Given the description of an element on the screen output the (x, y) to click on. 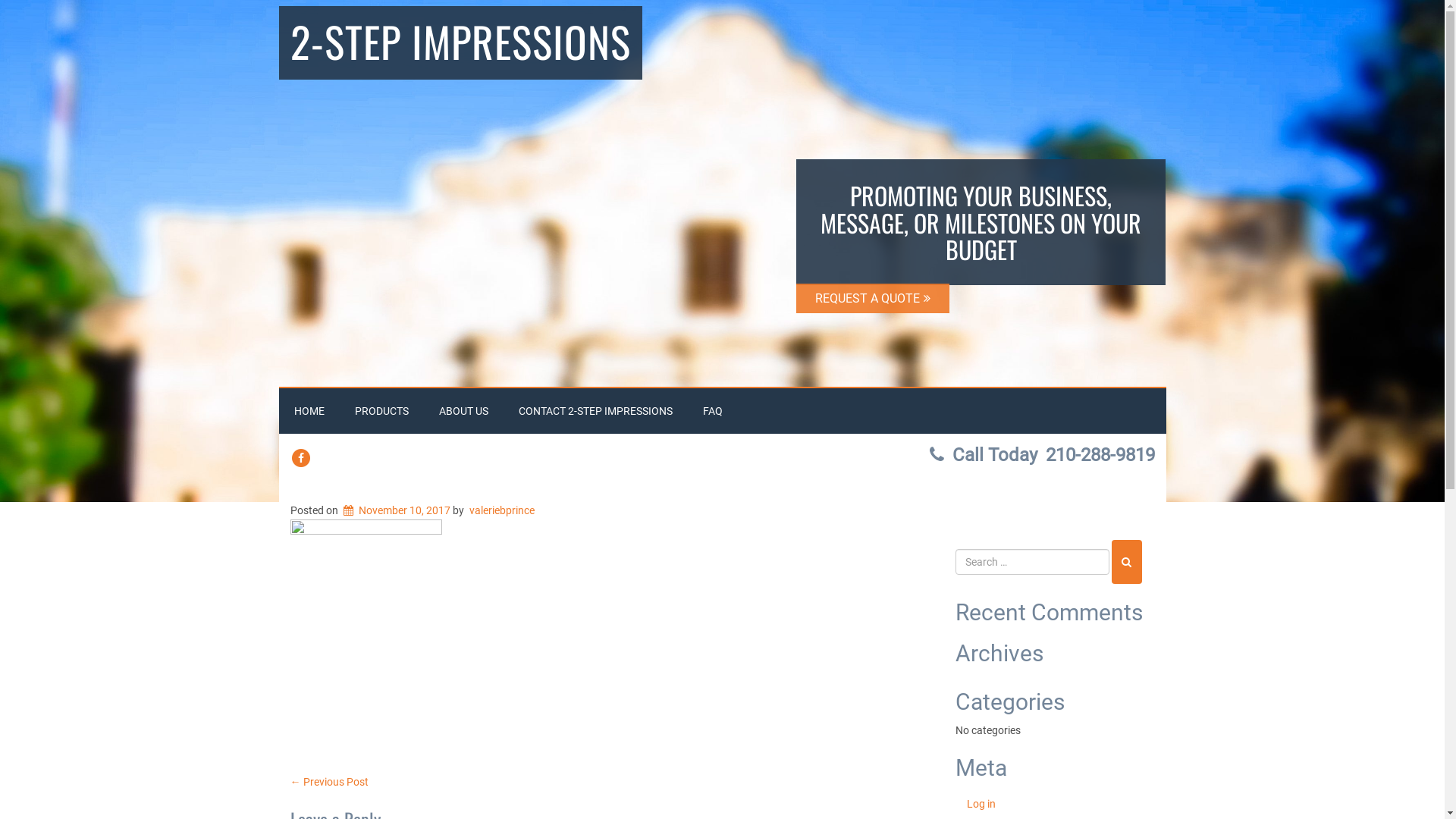
CONTACT 2-STEP IMPRESSIONS Element type: text (595, 410)
HOME Element type: text (309, 410)
FAQ Element type: text (712, 410)
FACEBOOK Element type: text (299, 457)
2-STEP IMPRESSIONS Element type: text (460, 42)
valeriebprince Element type: text (501, 510)
PRODUCTS Element type: text (381, 410)
ABOUT US Element type: text (462, 410)
REQUEST A QUOTE Element type: text (872, 298)
November 10, 2017 Element type: text (394, 510)
